Given the description of an element on the screen output the (x, y) to click on. 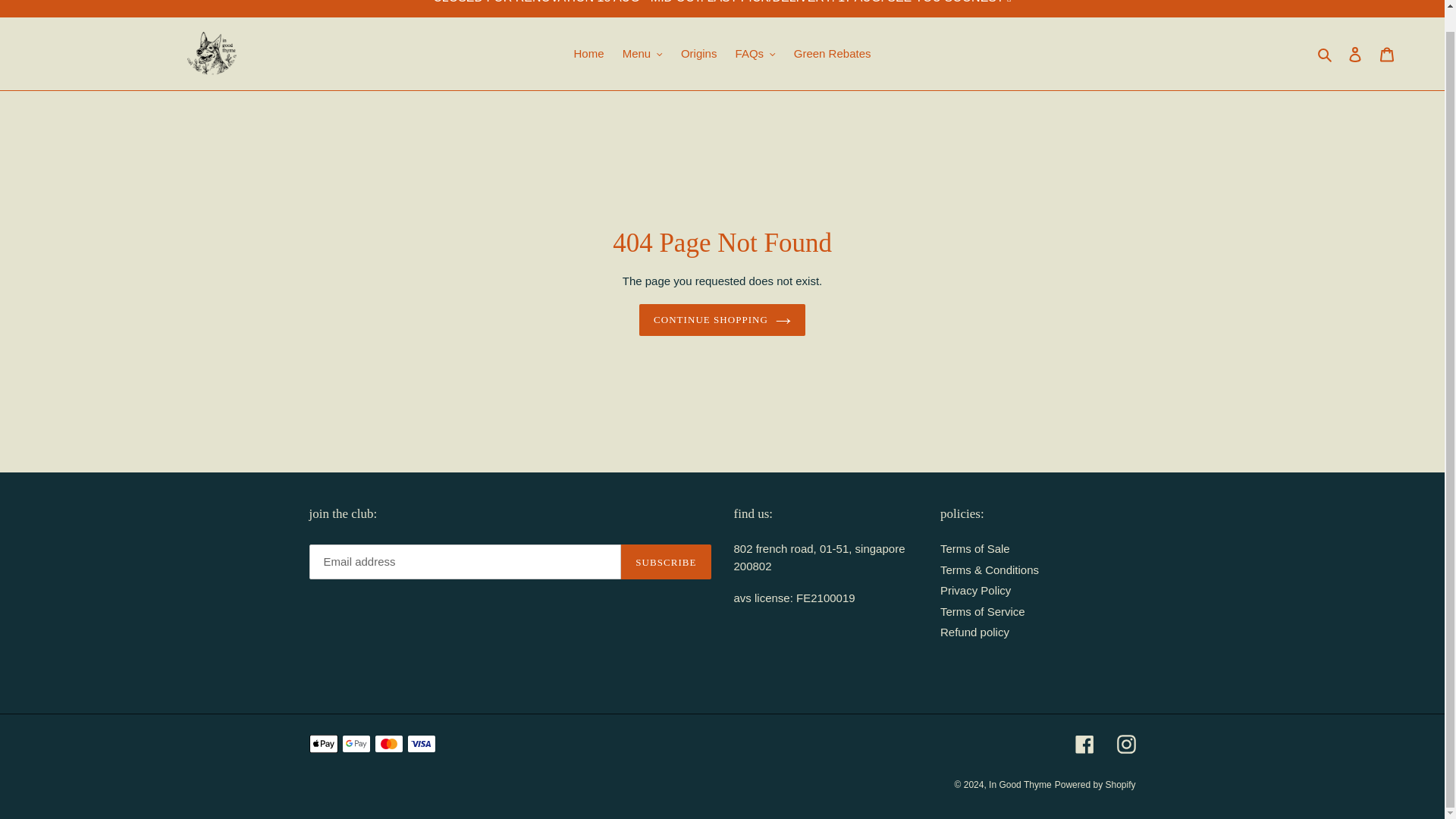
In Good Thyme (1019, 784)
Instagram (1125, 743)
CONTINUE SHOPPING (722, 319)
Facebook (1084, 743)
Origins (698, 54)
Privacy Policy (975, 590)
Search (1326, 54)
Home (588, 54)
Refund policy (974, 631)
Terms of Service (982, 611)
